Given the description of an element on the screen output the (x, y) to click on. 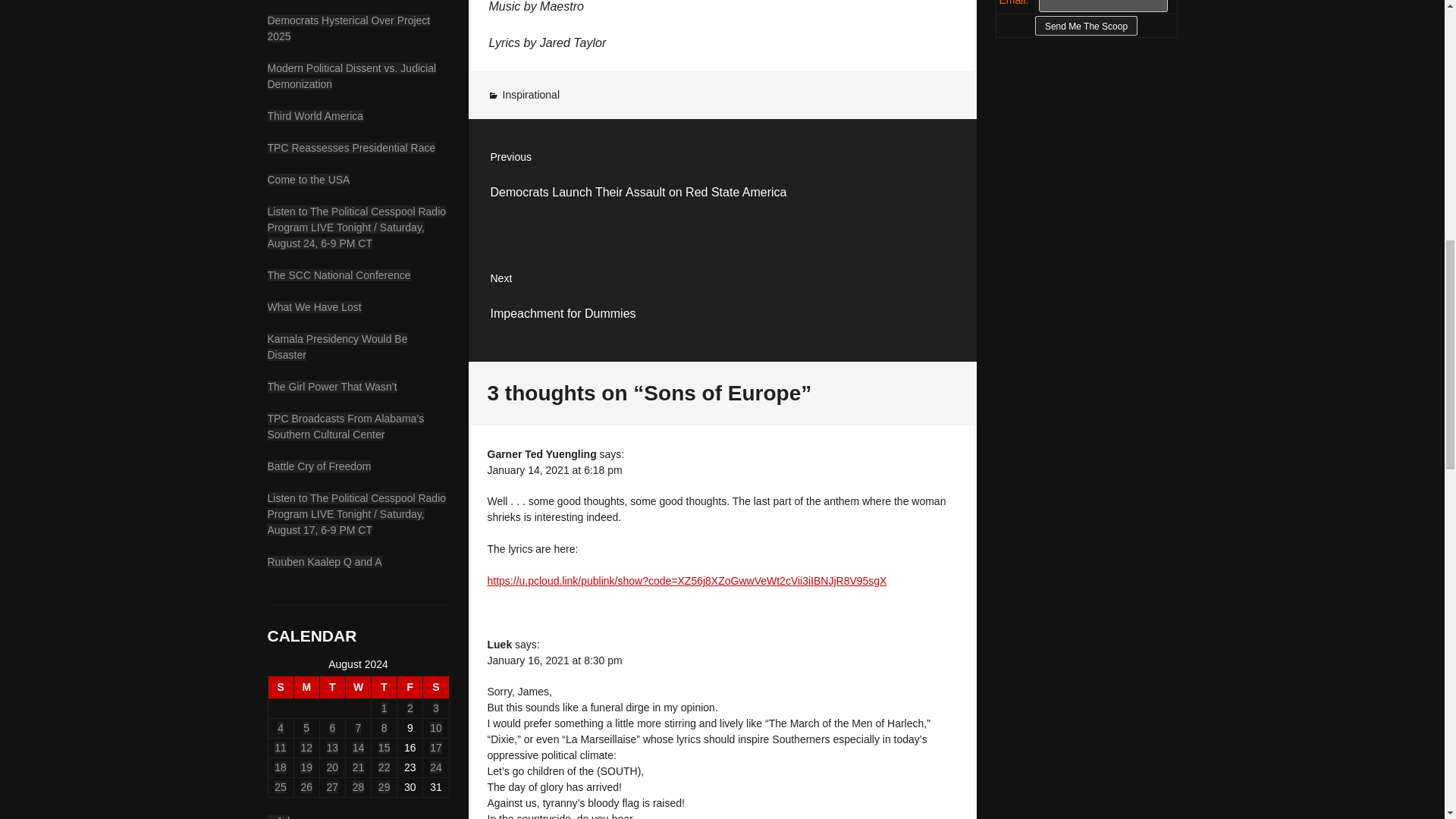
Kamala Presidency Would Be Disaster (336, 346)
TPC Reassesses Presidential Race (722, 300)
January 14, 2021 at 6:18 pm (350, 146)
Inspirational (553, 469)
Tuesday (530, 94)
Third World America (331, 687)
Battle Cry of Freedom (314, 114)
Modern Political Dissent vs. Judicial Demonization (318, 465)
Come to the USA (350, 76)
